Given the description of an element on the screen output the (x, y) to click on. 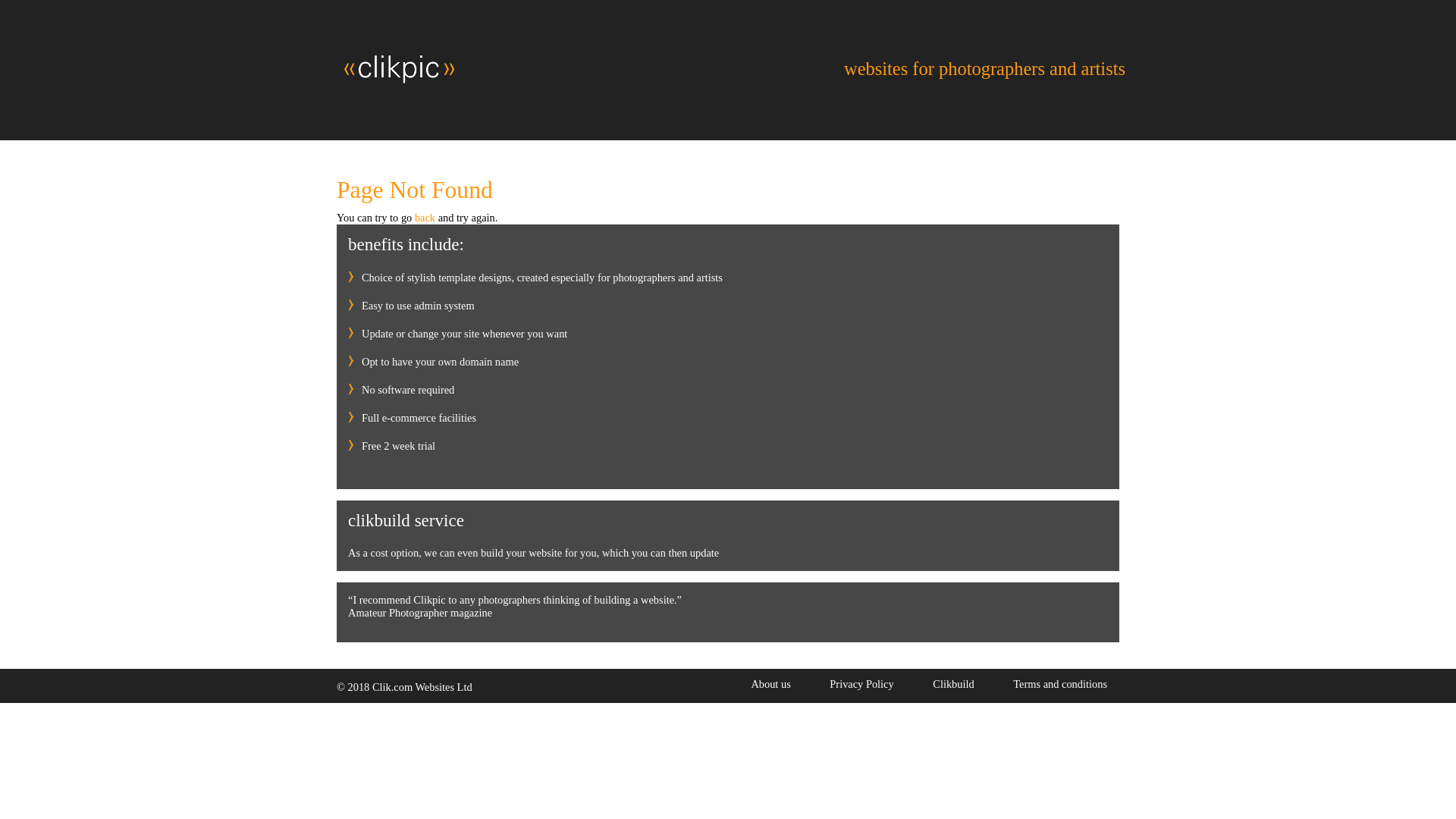
clikbuild service (405, 519)
Privacy Policy (860, 684)
back (424, 217)
Terms and conditions (1059, 684)
Clikbuild (952, 684)
About us (779, 684)
